Given the description of an element on the screen output the (x, y) to click on. 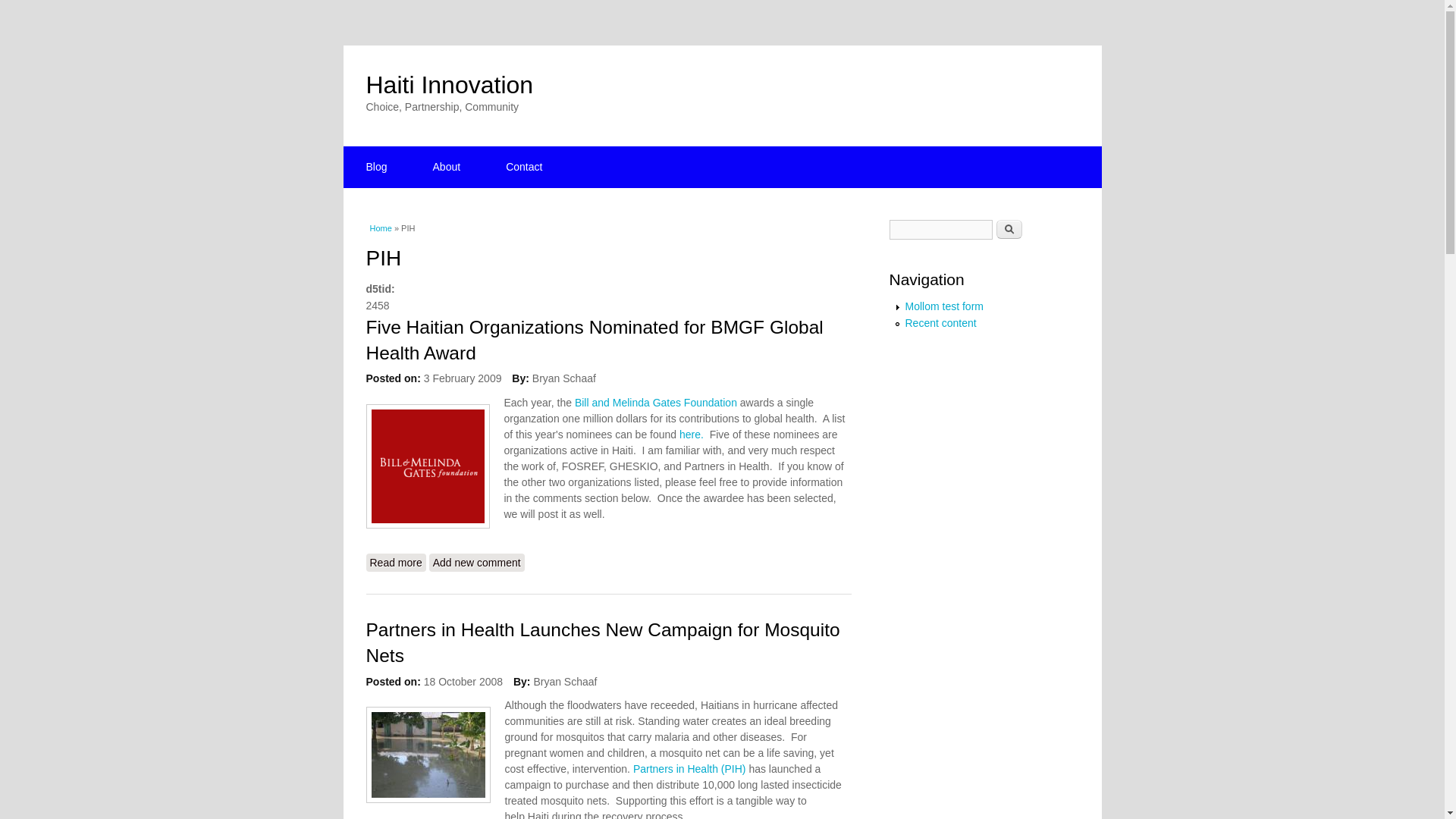
Add new comment (476, 562)
here. (690, 434)
Home (380, 227)
About (446, 167)
Home (448, 84)
Add a new comment to this page. (476, 562)
About Haiti Innovation (446, 167)
